Given the description of an element on the screen output the (x, y) to click on. 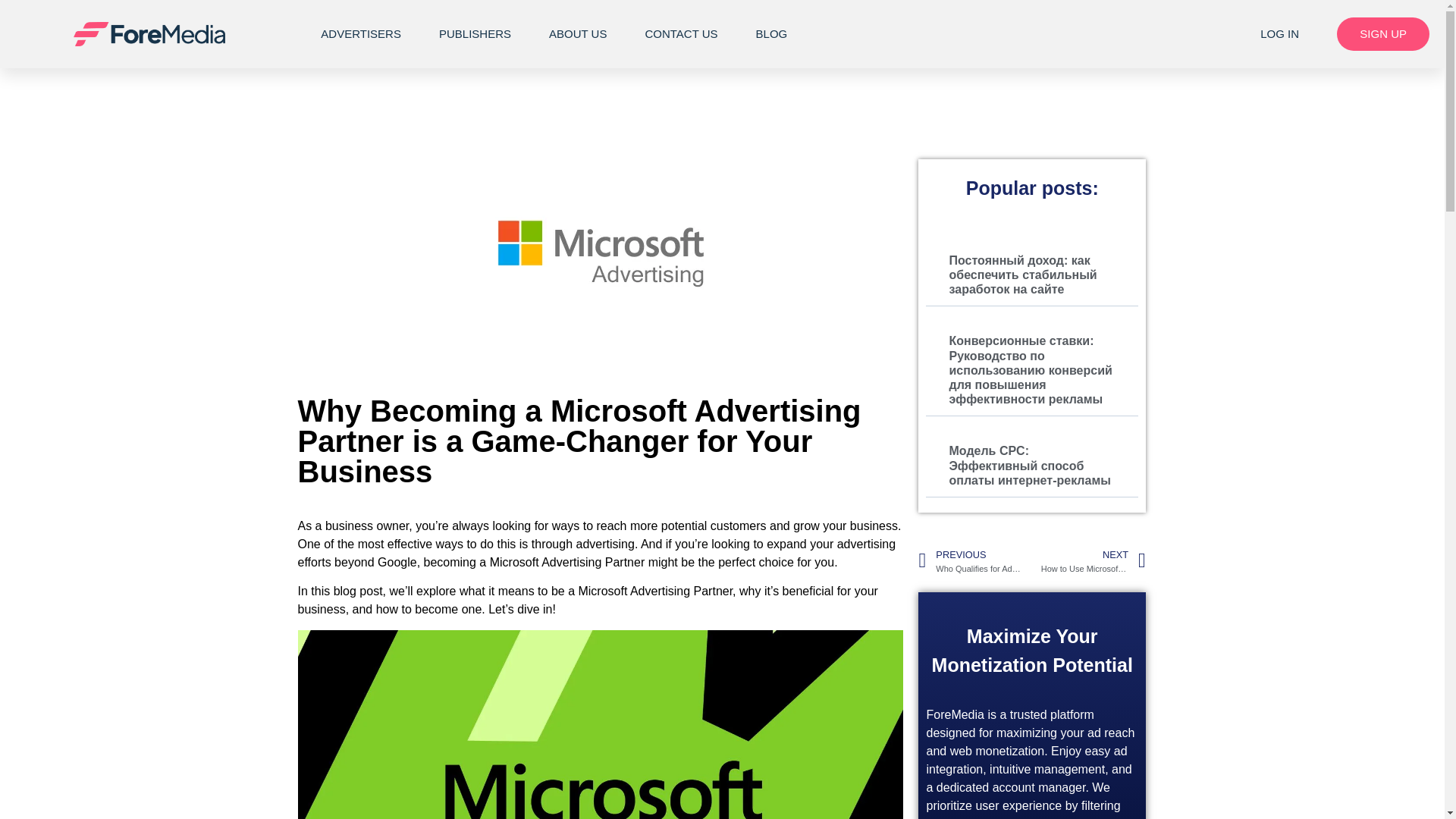
PUBLISHERS (475, 33)
CONTACT US (681, 33)
ADVERTISERS (360, 33)
SIGN UP (1382, 33)
LOG IN (1279, 33)
